Given the description of an element on the screen output the (x, y) to click on. 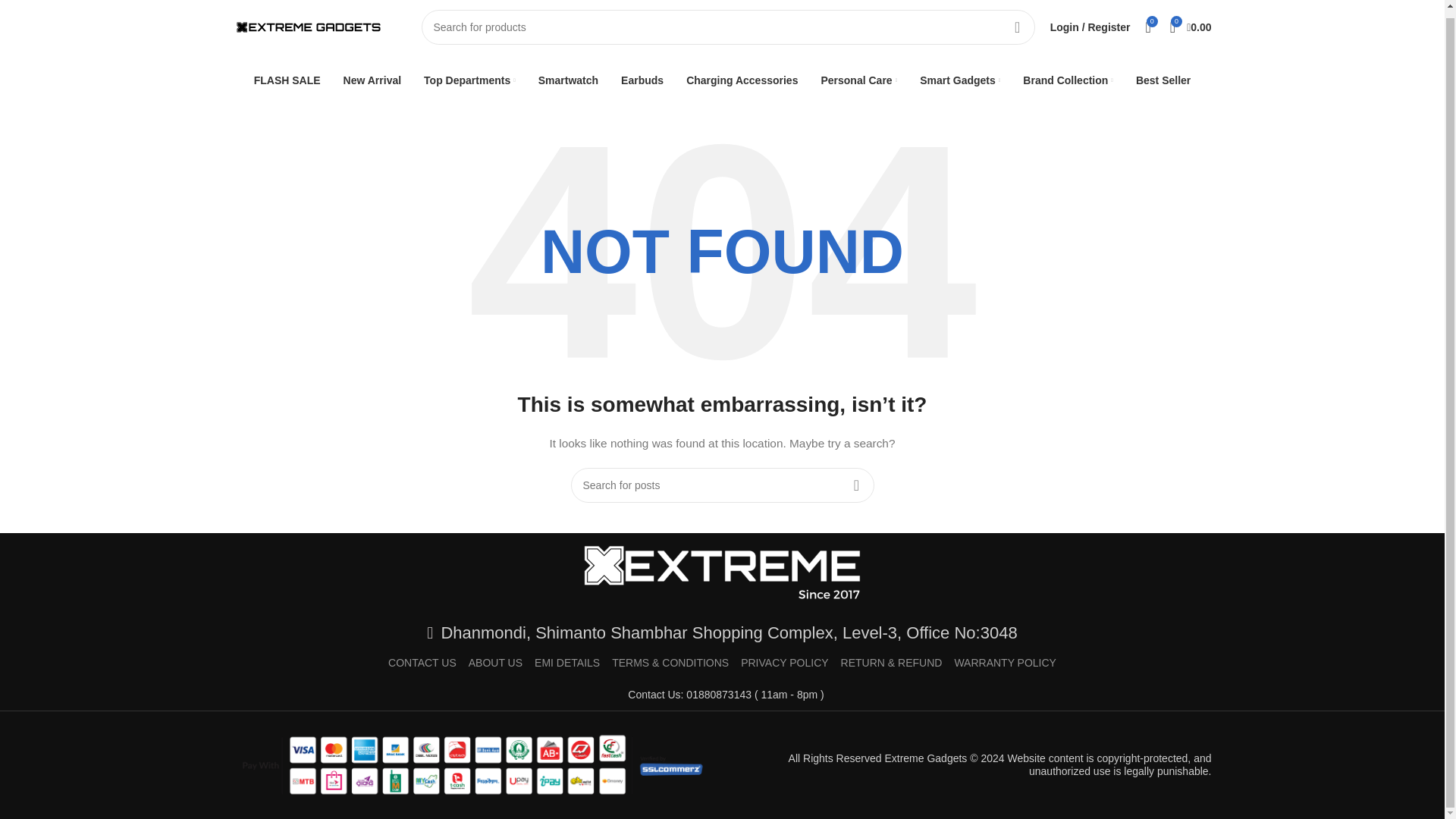
Top Departments (469, 80)
SEARCH (1017, 27)
New Arrival (372, 80)
Personal Care (858, 80)
Search for posts (721, 484)
Shopping cart (1190, 27)
FLASH SALE (286, 80)
Earbuds (642, 80)
Search for products (728, 27)
Charging Accessories (741, 80)
Smart Gadgets (960, 80)
Smartwatch (568, 80)
My account (1090, 27)
